Given the description of an element on the screen output the (x, y) to click on. 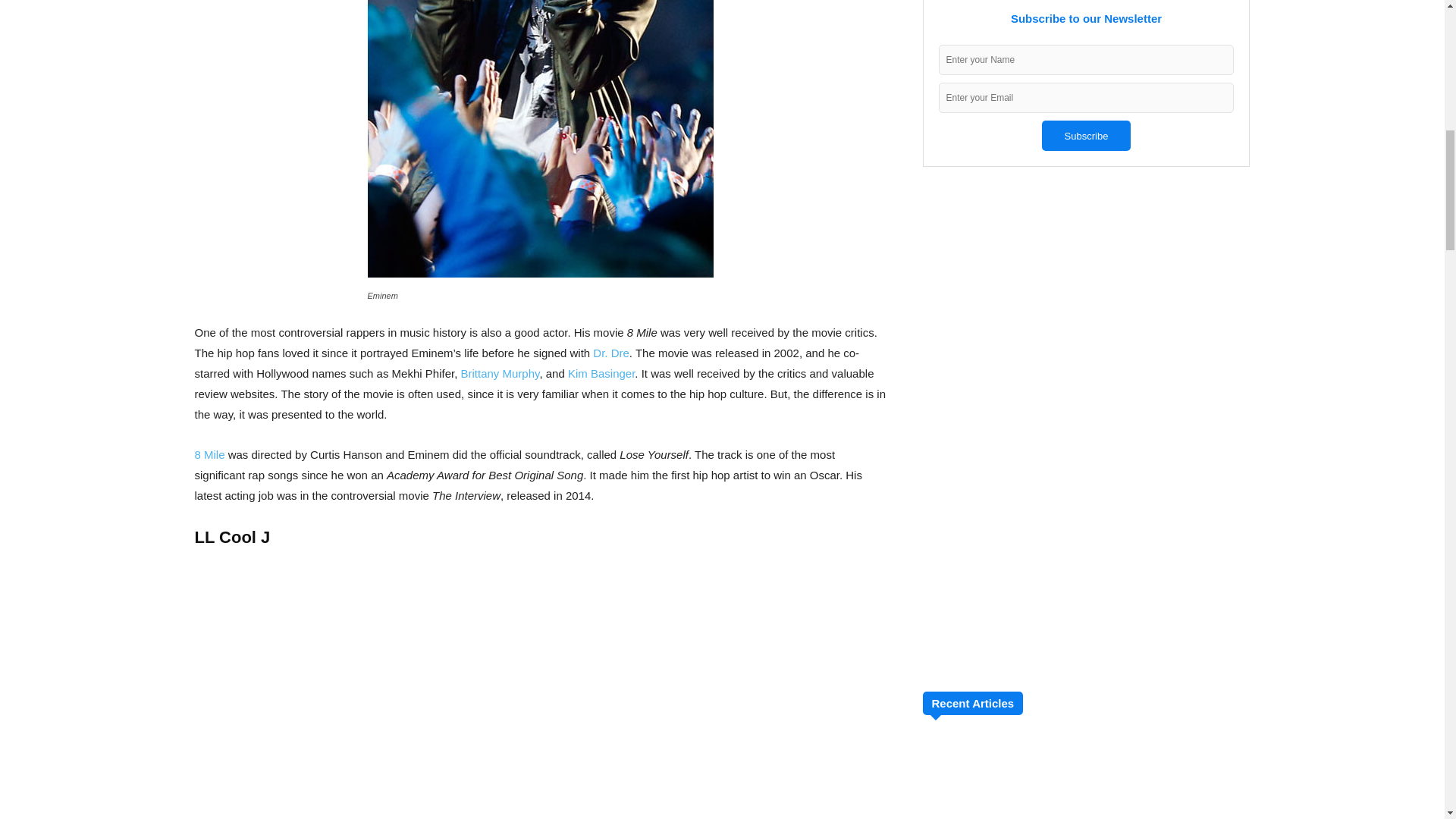
Subscribe (1086, 135)
